Given the description of an element on the screen output the (x, y) to click on. 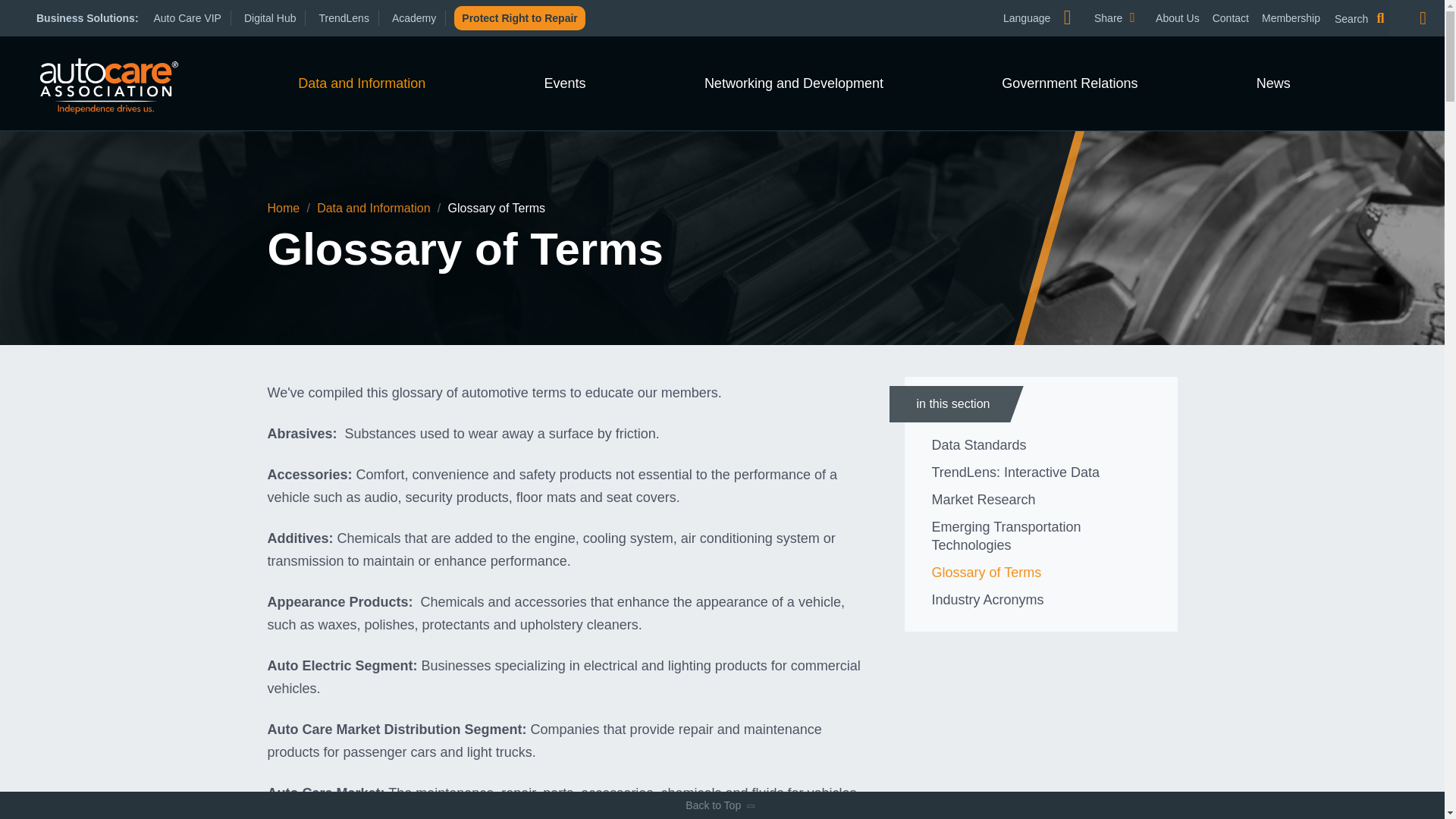
Auto Care VIP (191, 18)
Membership (1290, 18)
Share (1127, 18)
Protect Right to Repair (519, 17)
Contact (1043, 37)
Academy (1230, 18)
About Us (418, 18)
Data and Information (1177, 18)
TrendLens (361, 83)
